Given the description of an element on the screen output the (x, y) to click on. 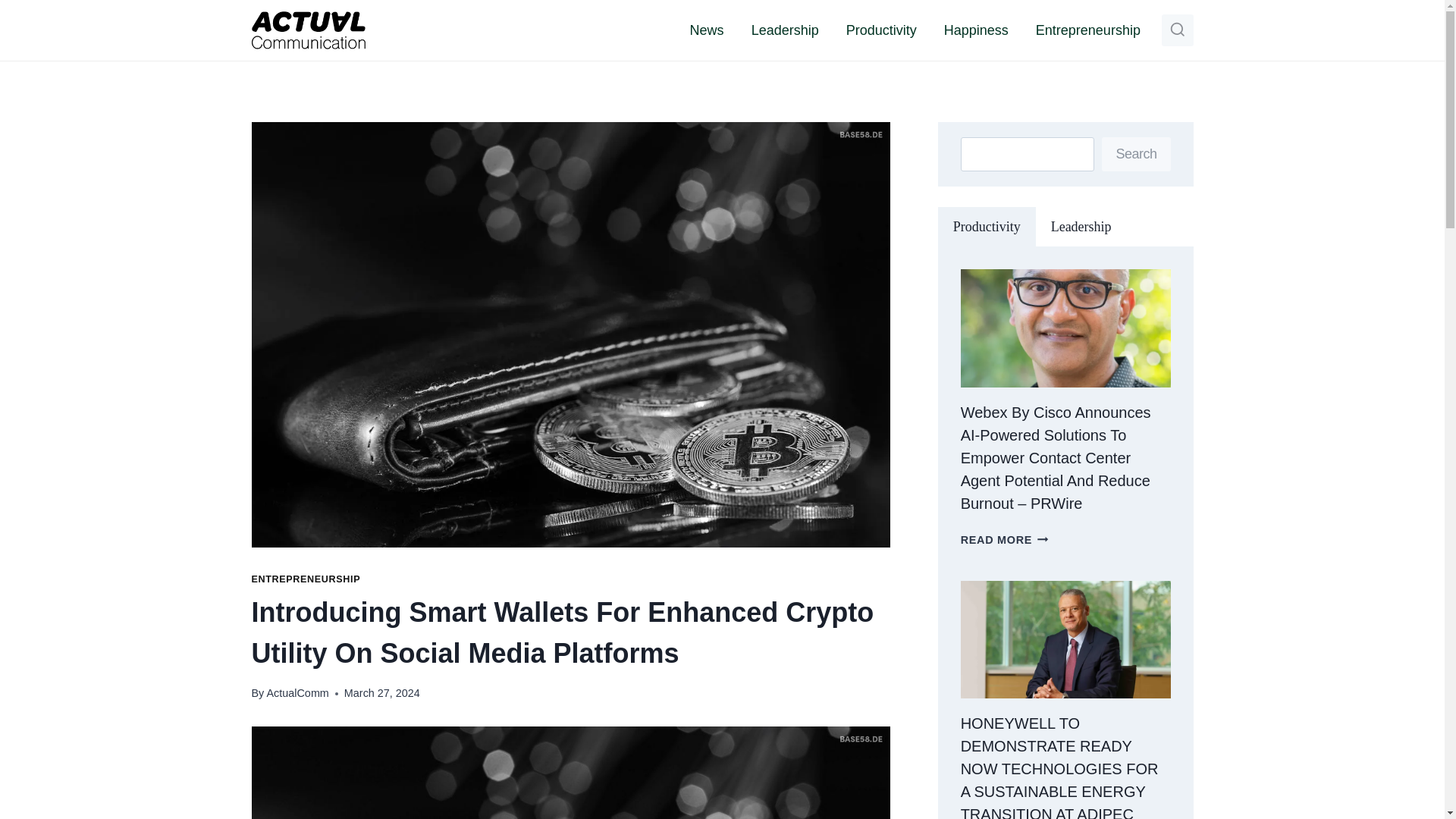
News (707, 30)
Entrepreneurship (1088, 30)
Leadership (785, 30)
Productivity (881, 30)
ActualComm (297, 693)
ENTREPRENEURSHIP (306, 579)
Happiness (976, 30)
